Given the description of an element on the screen output the (x, y) to click on. 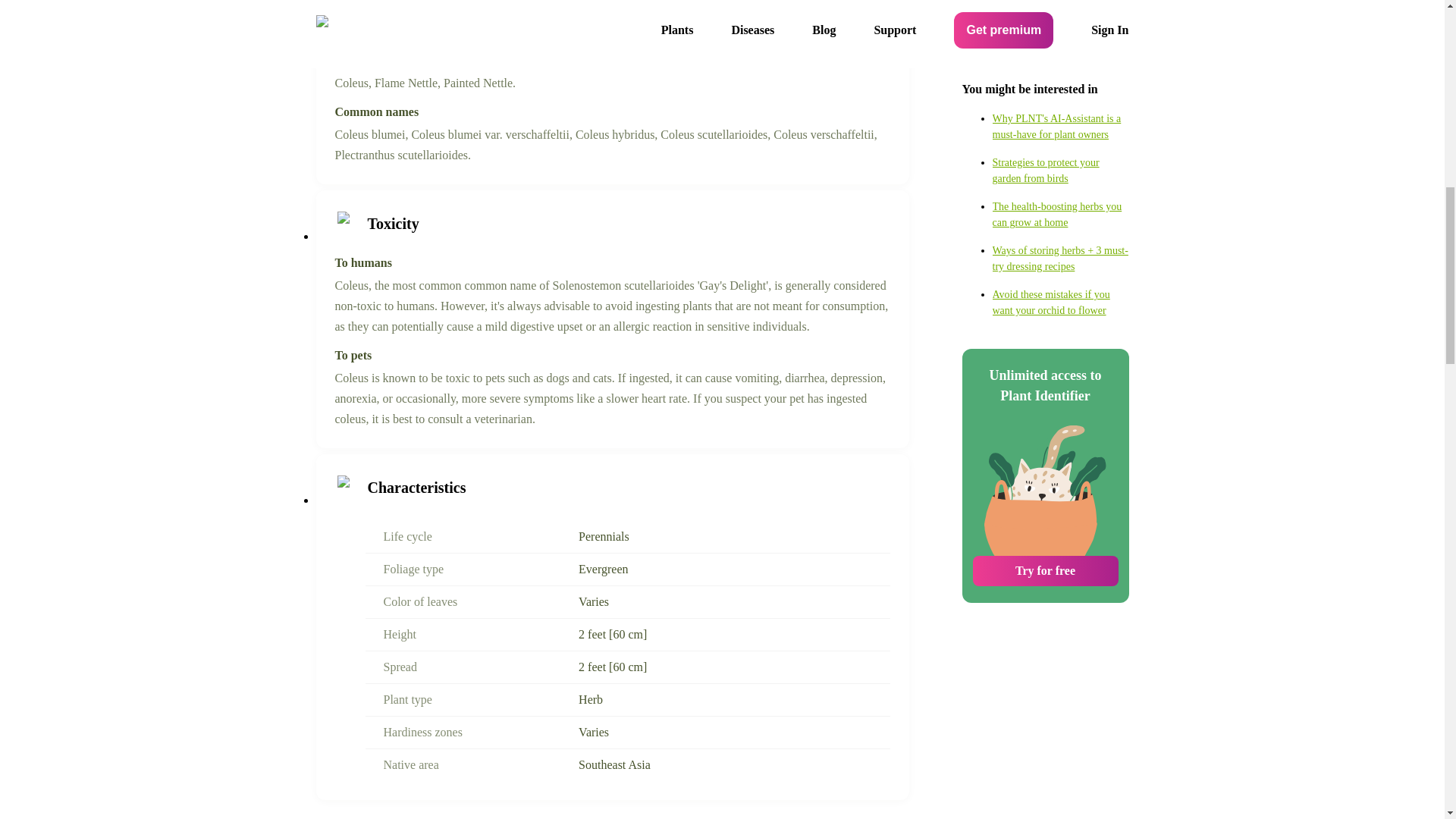
Try for free (1045, 302)
Avoid these mistakes if you want your orchid to flower (1059, 33)
